Given the description of an element on the screen output the (x, y) to click on. 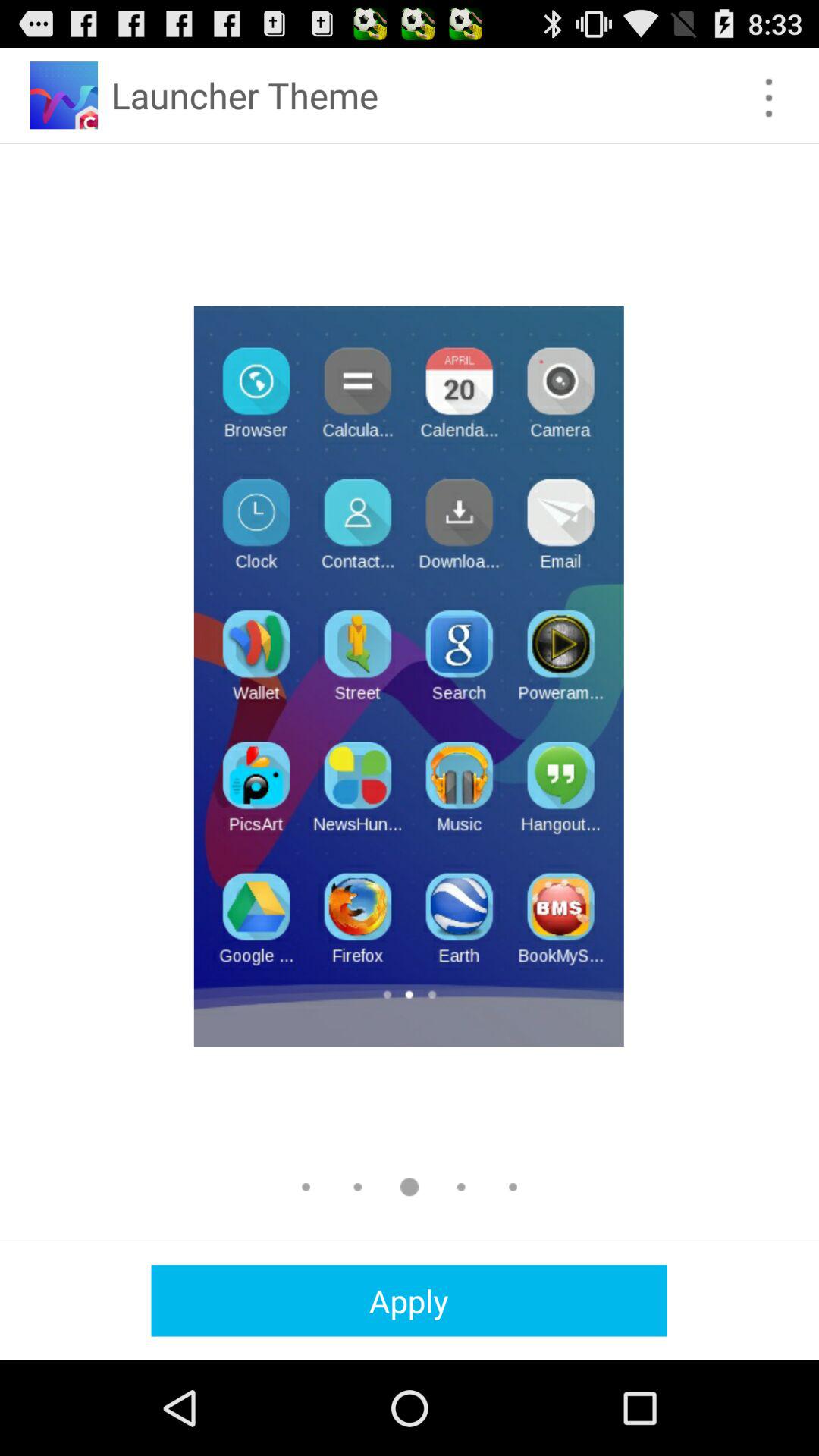
more options (768, 97)
